Given the description of an element on the screen output the (x, y) to click on. 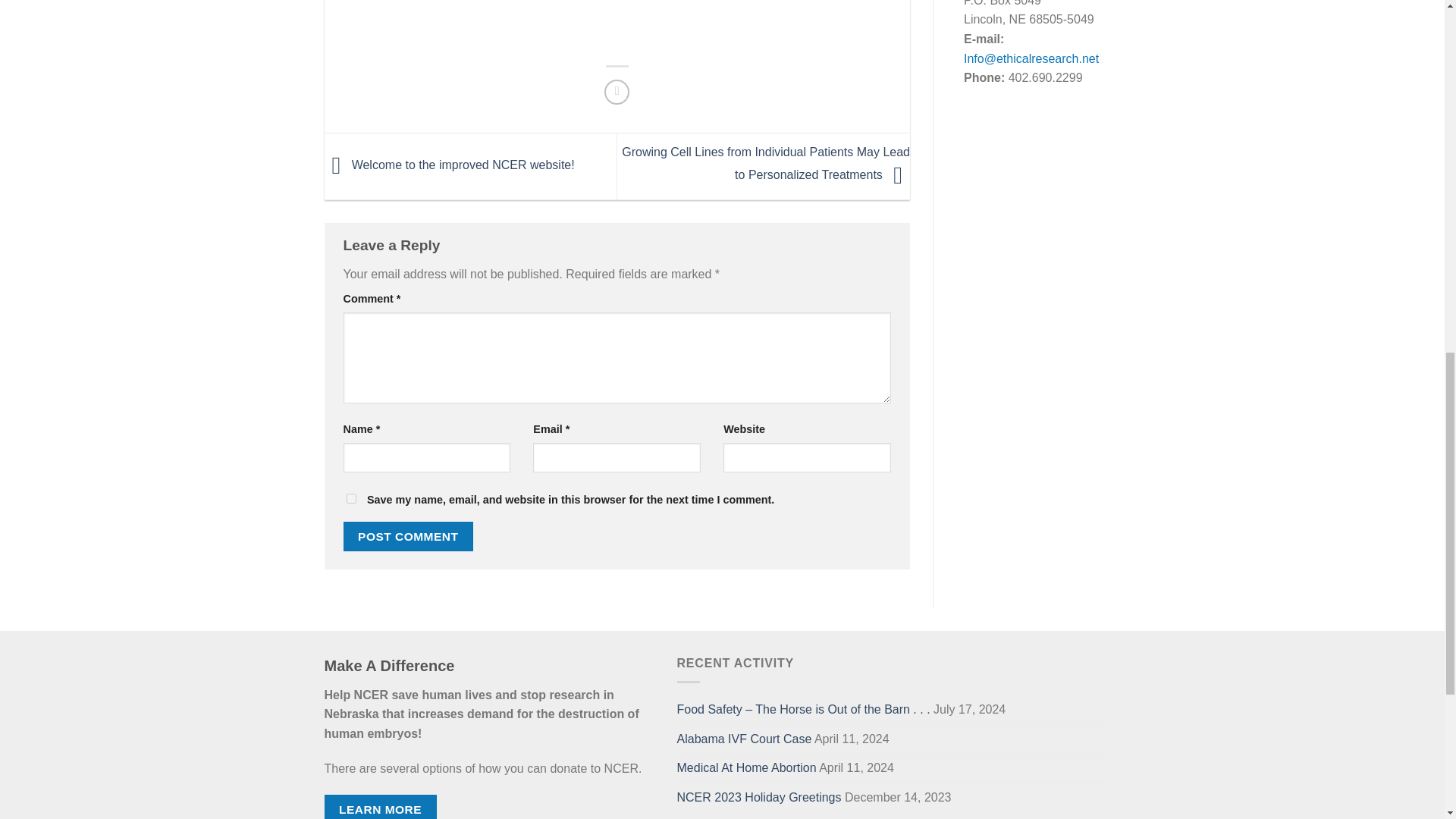
Alabama IVF Court Case (743, 738)
Post Comment (407, 536)
Post Comment (407, 536)
yes (350, 498)
Medical At Home Abortion (746, 767)
LEARN MORE (380, 806)
Share on Facebook (616, 91)
NCER 2023 Holiday Greetings (759, 797)
Welcome to the improved NCER website! (449, 164)
